Given the description of an element on the screen output the (x, y) to click on. 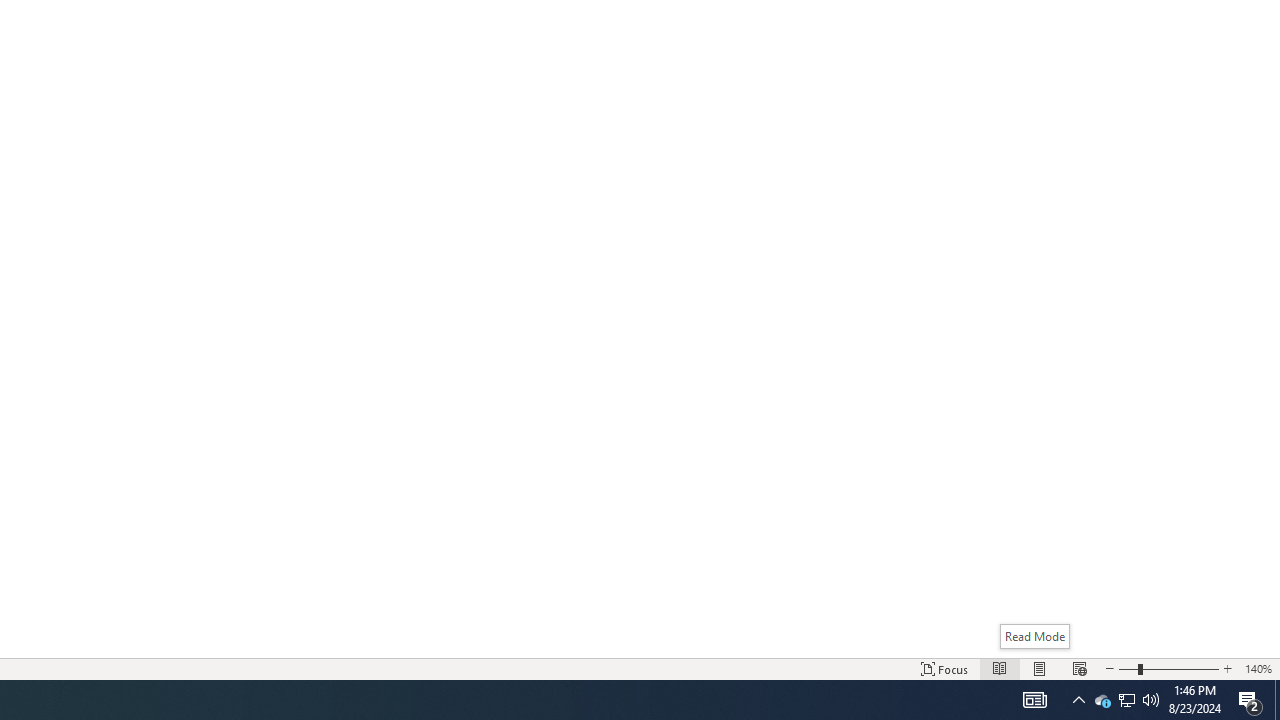
Text Size (1168, 668)
Increase Text Size (1227, 668)
Decrease Text Size (1109, 668)
